Given the description of an element on the screen output the (x, y) to click on. 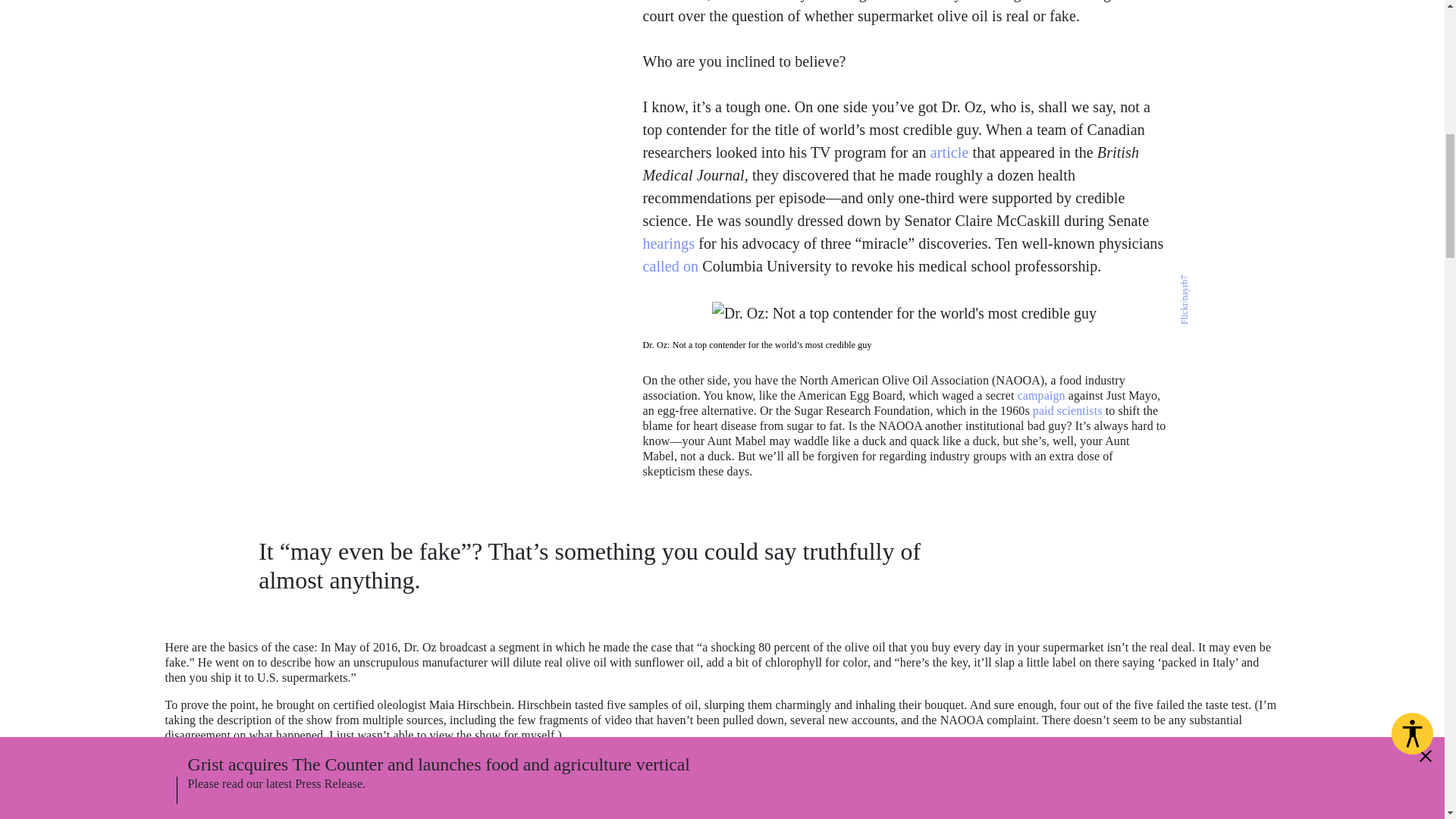
paid scientists (1067, 410)
called on (670, 265)
hearings (669, 243)
campaign (1041, 395)
article (949, 152)
